Given the description of an element on the screen output the (x, y) to click on. 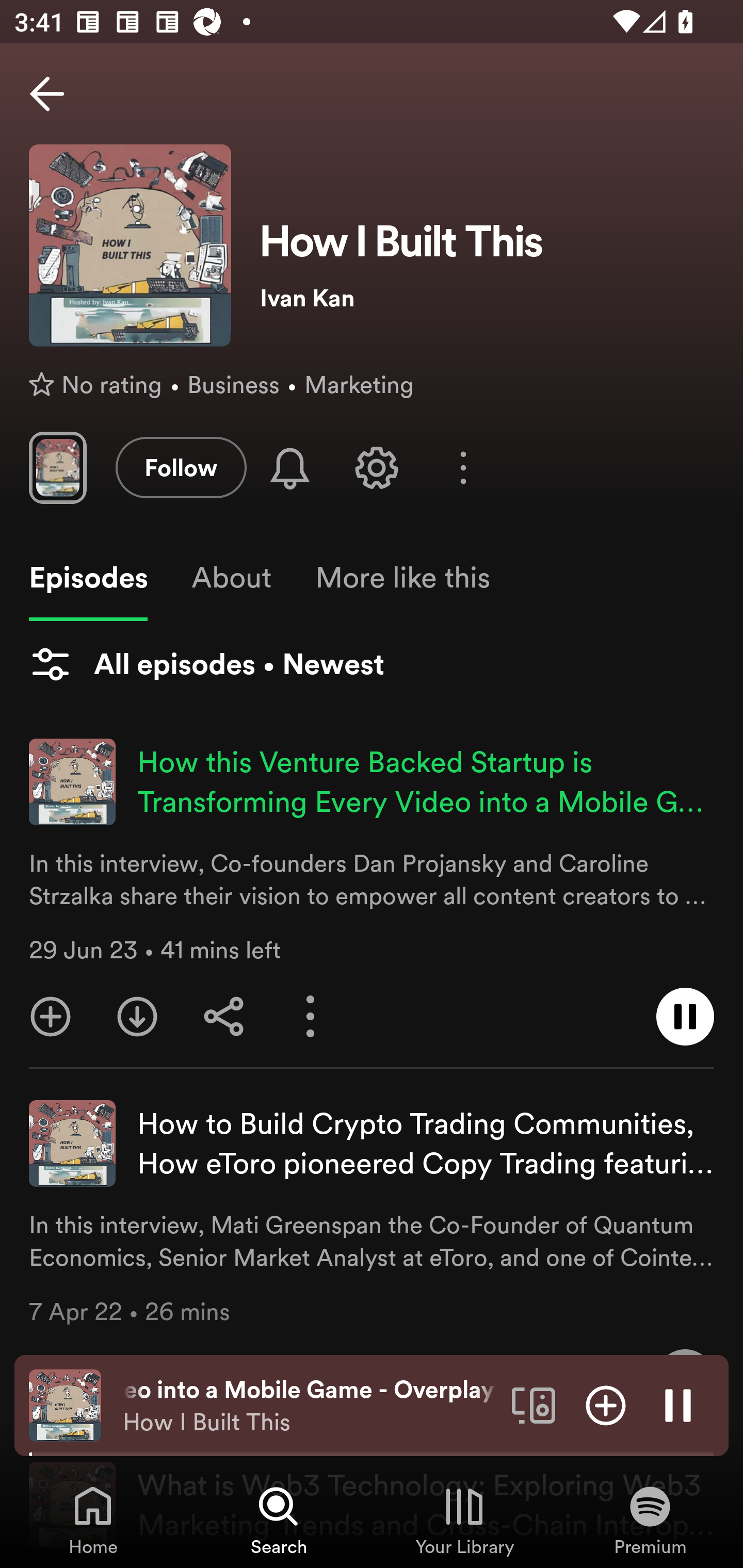
Back (46, 93)
Ivan Kan (487, 297)
Follow Follow this show (180, 466)
Settings for this Show. (376, 467)
More options for show How I Built This (462, 467)
About (231, 577)
More like this (402, 577)
All episodes • Newest (206, 663)
Share (223, 1016)
The cover art of the currently playing track (64, 1404)
Connect to a device. Opens the devices menu (533, 1404)
Add item (605, 1404)
Pause (677, 1404)
Home, Tab 1 of 4 Home Home (92, 1519)
Search, Tab 2 of 4 Search Search (278, 1519)
Your Library, Tab 3 of 4 Your Library Your Library (464, 1519)
Premium, Tab 4 of 4 Premium Premium (650, 1519)
